Given the description of an element on the screen output the (x, y) to click on. 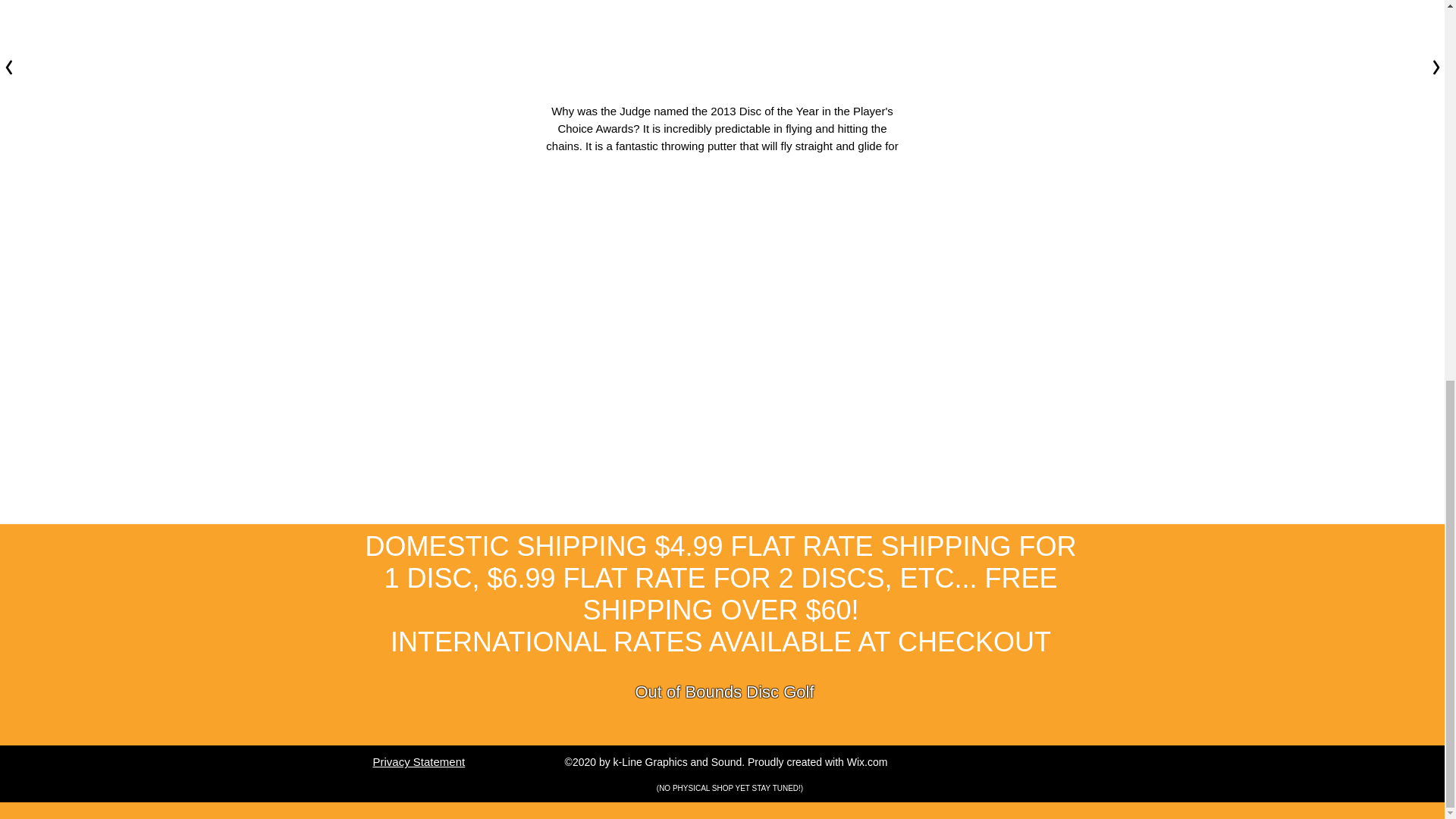
Privacy Statement (418, 761)
Out of Bounds Disc Golf (723, 691)
